Given the description of an element on the screen output the (x, y) to click on. 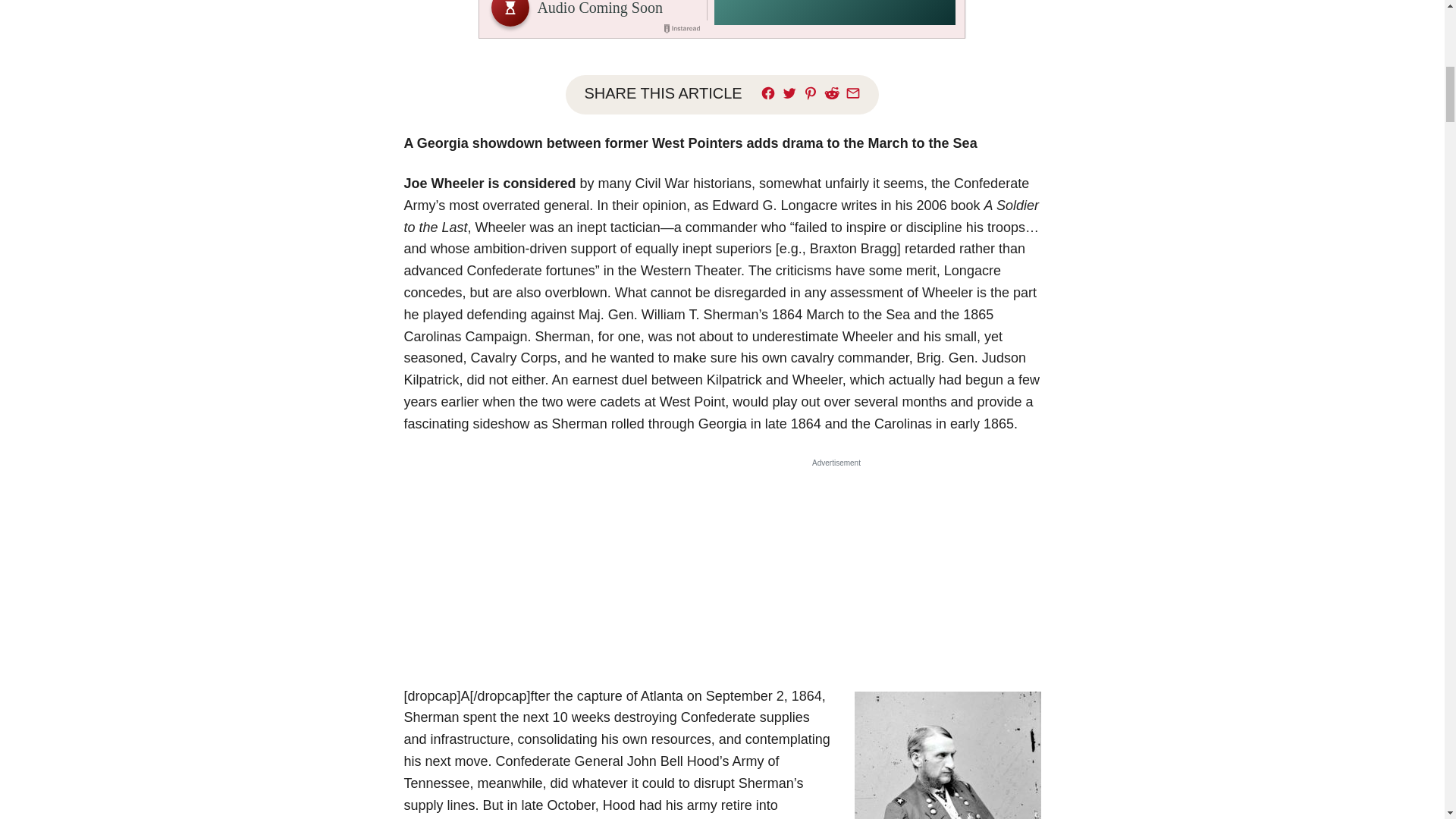
3rd party ad content (836, 565)
Audio Sponsor (834, 13)
Audio Article  (721, 19)
